Given the description of an element on the screen output the (x, y) to click on. 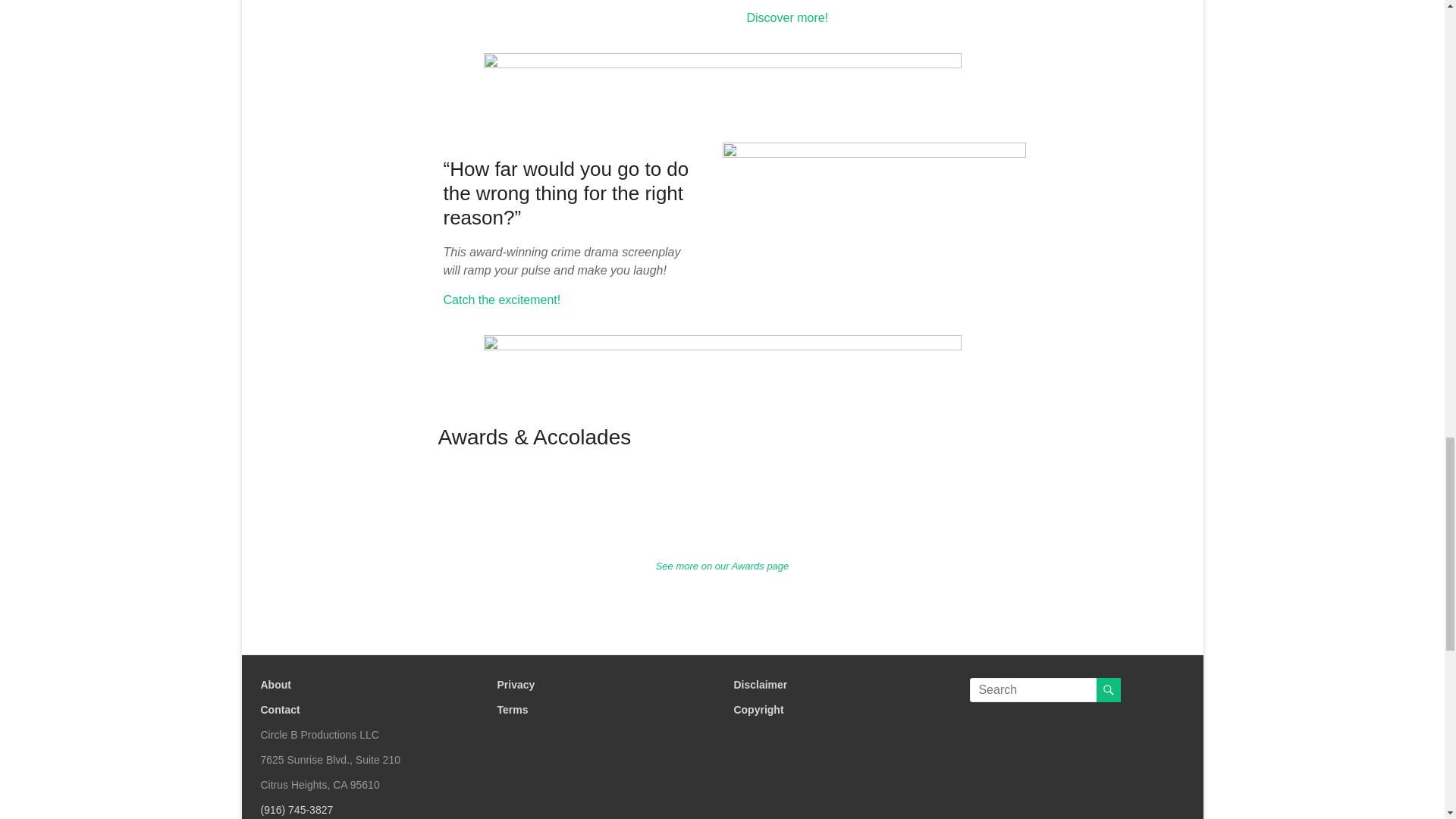
Terms (511, 709)
Discover more! (786, 17)
About (275, 684)
Copyright (758, 709)
Contact (279, 709)
Disclaimer (760, 684)
Privacy (515, 684)
See more on our Awards page (722, 565)
Catch the excitement! (501, 299)
